Given the description of an element on the screen output the (x, y) to click on. 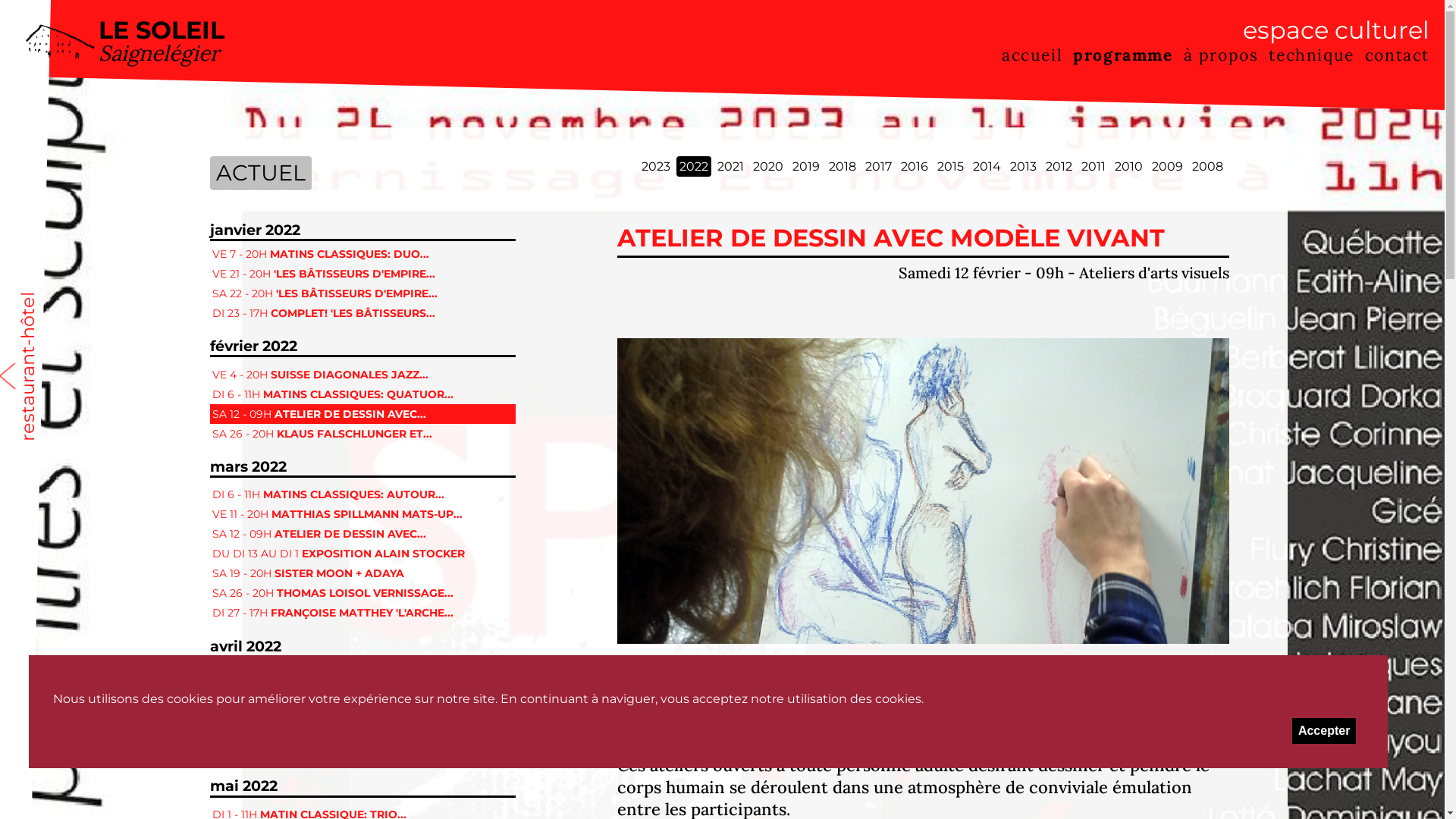
2009 Element type: text (1167, 166)
SA 12 - 09H ATELIER DE DESSIN AVEC... Element type: text (362, 413)
2019 Element type: text (805, 166)
DU DI 13 AU DI 1 EXPOSITION ALAIN STOCKER Element type: text (362, 553)
ACTUEL Element type: text (260, 172)
2022 Element type: text (693, 166)
contact Element type: text (1397, 54)
DI 3 - 11H MATIN CLASSIQUE: DELPHINE... Element type: text (362, 693)
VE 4 - 20H SUISSE DIAGONALES JAZZ... Element type: text (362, 374)
2015 Element type: text (950, 166)
2014 Element type: text (986, 166)
2012 Element type: text (1058, 166)
2010 Element type: text (1128, 166)
accueil Element type: text (1031, 54)
2016 Element type: text (914, 166)
SA 2 - 20H LELIA LORTIK, CHANSON PUNK... Element type: text (362, 674)
2017 Element type: text (878, 166)
SA 26 - 20H KLAUS FALSCHLUNGER ET... Element type: text (362, 433)
SA 19 - 20H SISTER MOON + ADAYA Element type: text (362, 573)
2011 Element type: text (1093, 166)
VE 11 - 20H MATTHIAS SPILLMANN MATS-UP... Element type: text (362, 514)
technique Element type: text (1310, 54)
programme Element type: text (1122, 54)
2008 Element type: text (1207, 166)
VE 7 - 20H MATINS CLASSIQUES: DUO... Element type: text (362, 253)
Accepter Element type: text (1323, 730)
2013 Element type: text (1023, 166)
SA 26 - 20H THOMAS LOISOL VERNISSAGE... Element type: text (362, 592)
VE 22 - 20H LE RENOUVEAU DU SERPENT Element type: text (362, 733)
SA 9 - 09H ATELIER DE DESSIN AVEC... Element type: text (362, 713)
2020 Element type: text (767, 166)
SA 12 - 09H ATELIER DE DESSIN AVEC... Element type: text (362, 533)
2018 Element type: text (842, 166)
SA 23 - 20H BARDANE LE ROUGE -... Element type: text (362, 752)
2023 Element type: text (655, 166)
DI 6 - 11H MATINS CLASSIQUES: QUATUOR... Element type: text (362, 394)
2021 Element type: text (730, 166)
DI 6 - 11H MATINS CLASSIQUES: AUTOUR... Element type: text (362, 494)
